Given the description of an element on the screen output the (x, y) to click on. 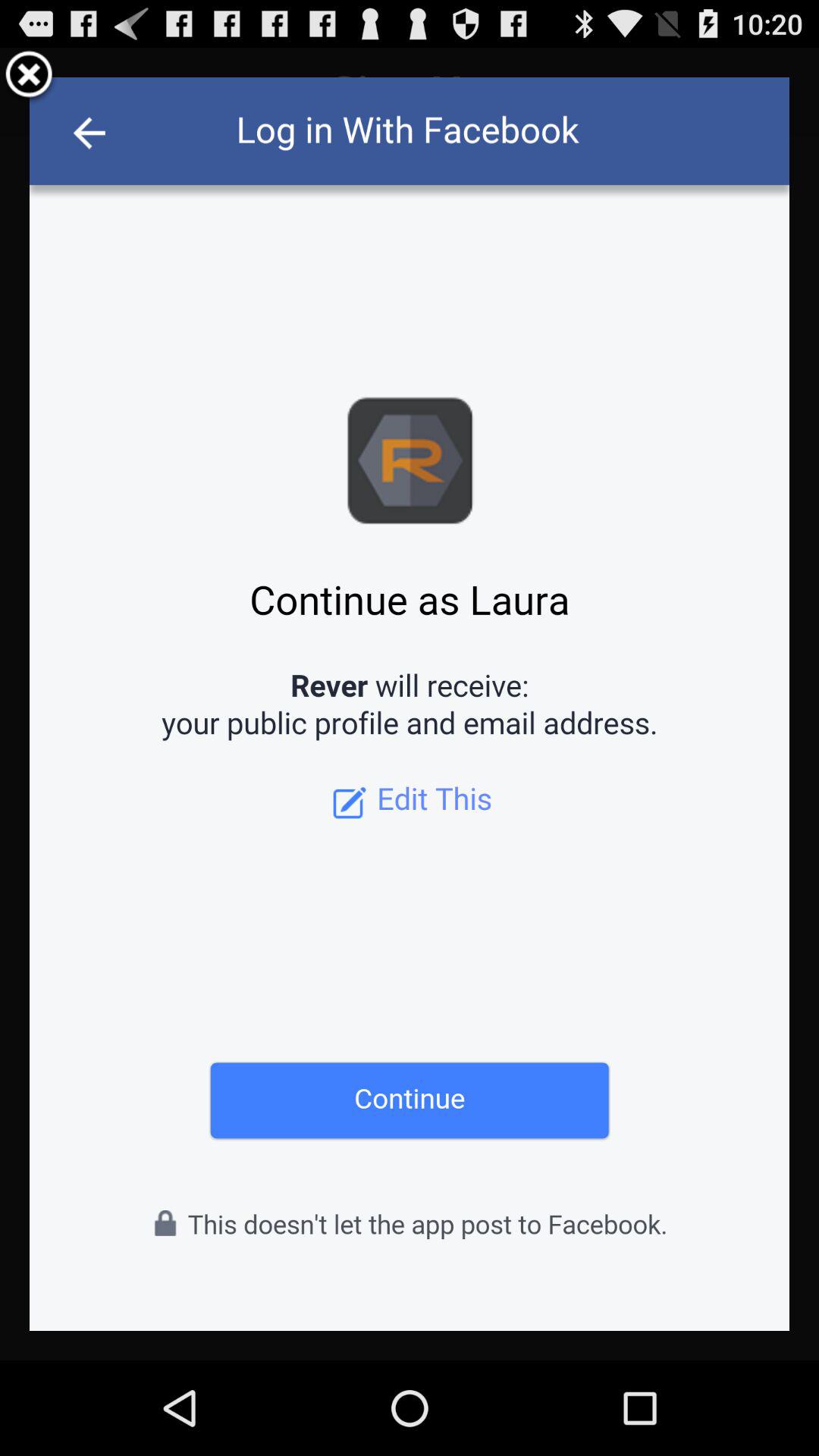
close (29, 76)
